Given the description of an element on the screen output the (x, y) to click on. 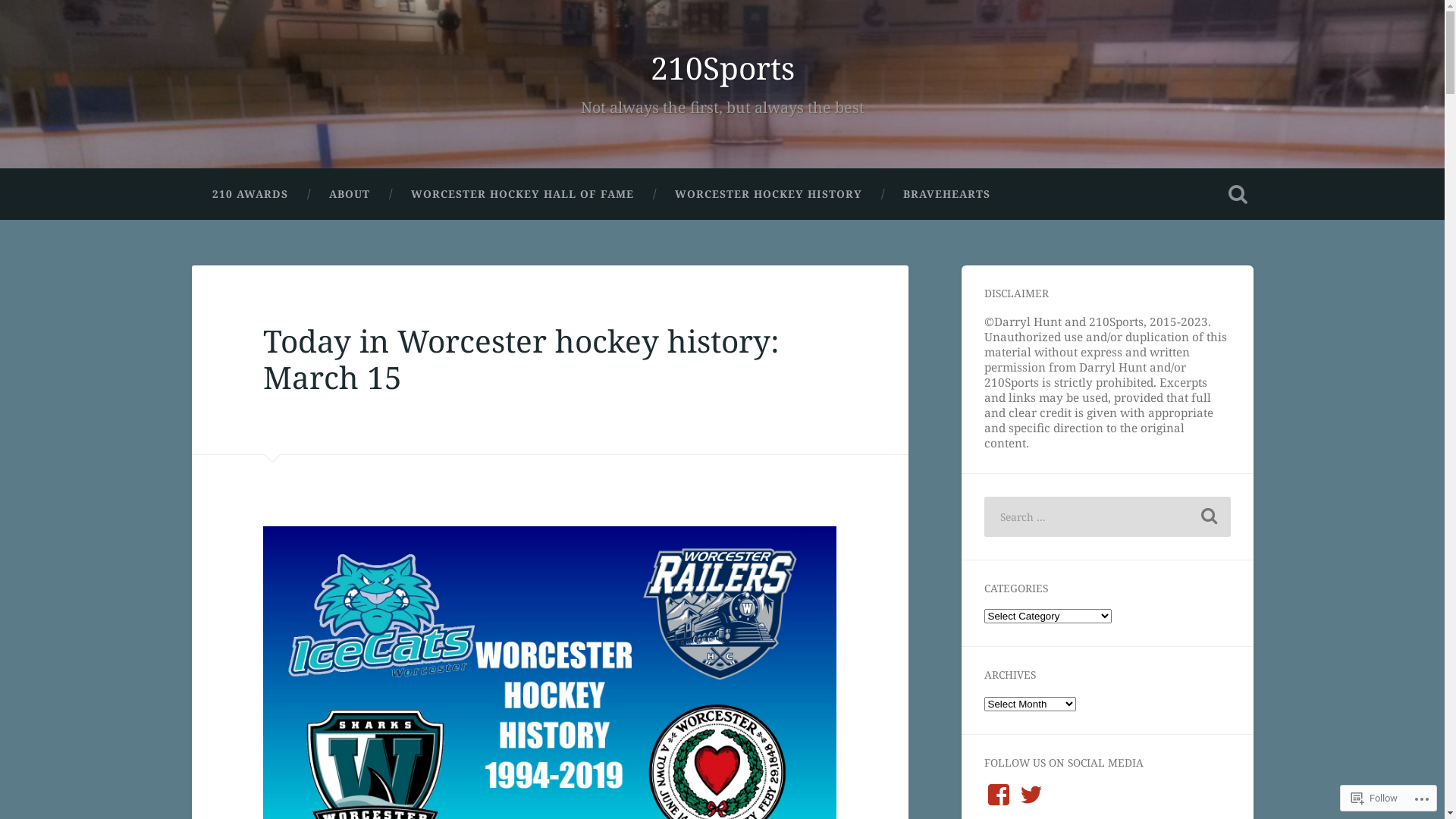
Search Element type: text (1208, 516)
210Sports Element type: text (722, 67)
Today in Worcester hockey history: March 15 Element type: text (521, 359)
ABOUT Element type: text (348, 193)
WORCESTER HOCKEY HALL OF FAME Element type: text (521, 193)
210 AWARDS Element type: text (249, 193)
BRAVEHEARTS Element type: text (946, 193)
Open Search Element type: text (1237, 193)
Follow Element type: text (1374, 797)
WORCESTER HOCKEY HISTORY Element type: text (767, 193)
